Given the description of an element on the screen output the (x, y) to click on. 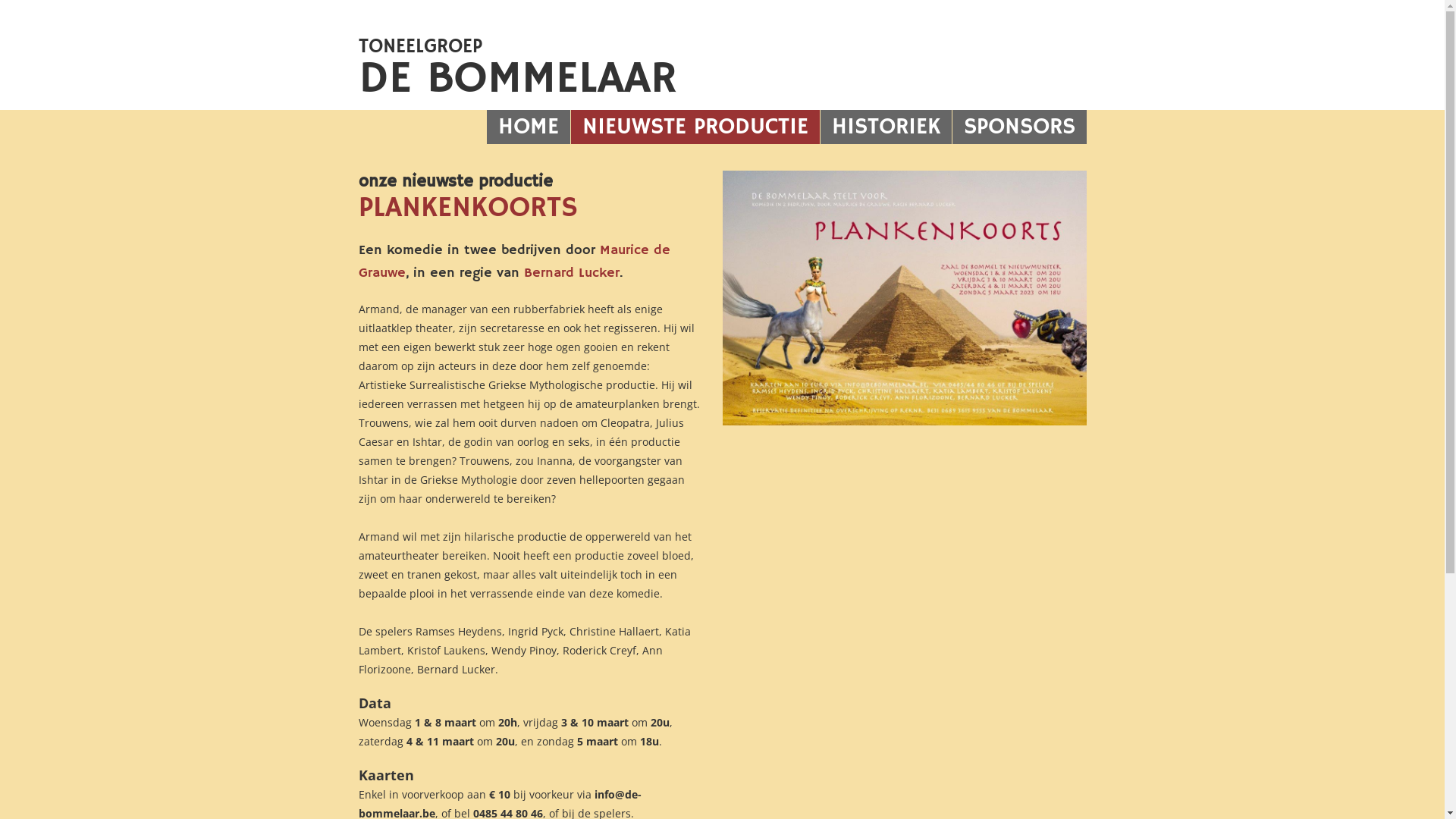
NIEUWSTE PRODUCTIE Element type: text (694, 126)
HISTORIEK Element type: text (885, 126)
HOME Element type: text (528, 126)
SPONSORS Element type: text (1019, 126)
